Given the description of an element on the screen output the (x, y) to click on. 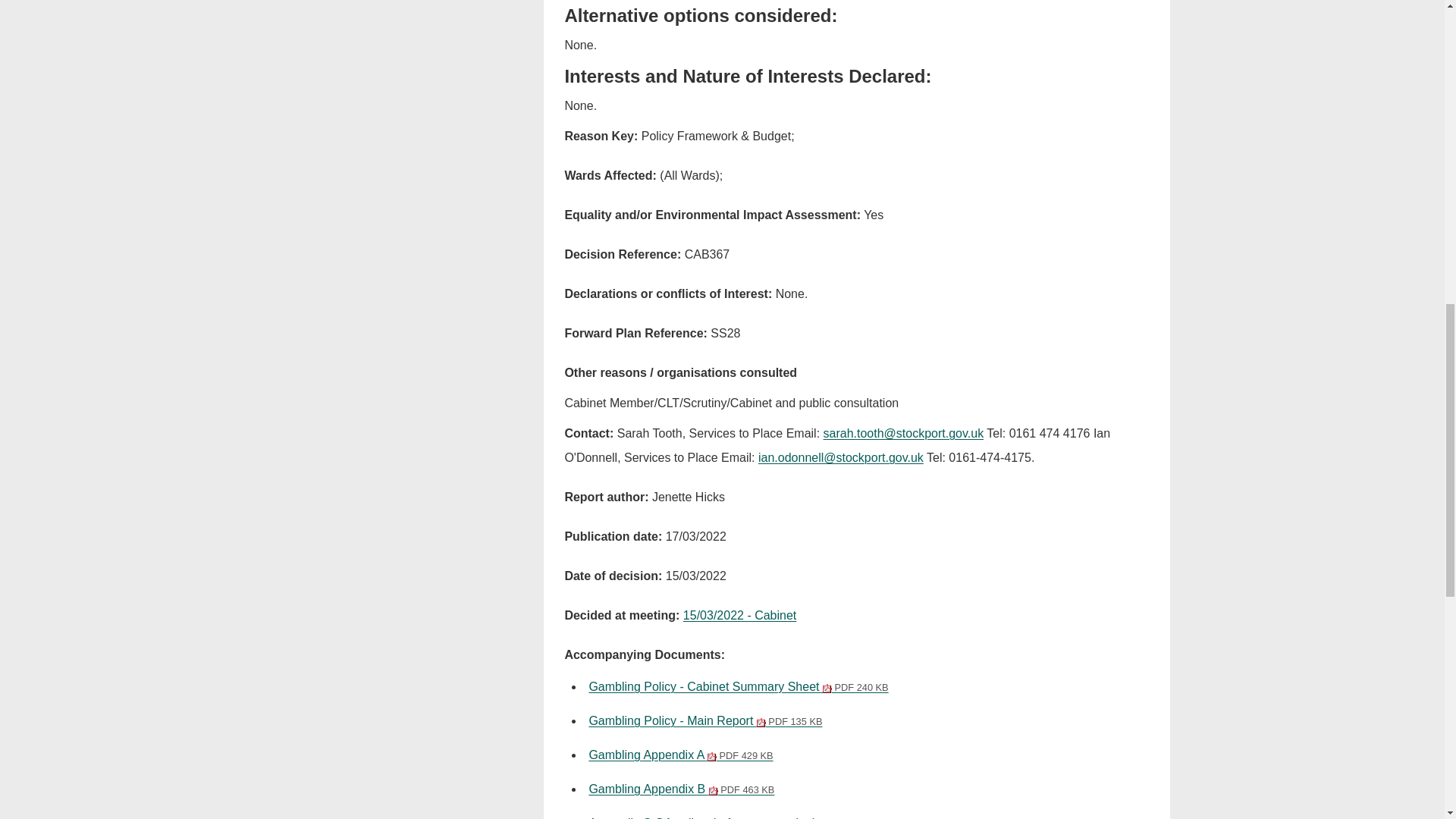
Link to file Gambling Appendix A (680, 754)
Gambling Appendix B PDF 463 KB (681, 788)
Gambling Policy - Main Report PDF 135 KB (705, 720)
Gambling Policy - Cabinet Summary Sheet PDF 240 KB (738, 686)
Gambling Appendix A PDF 429 KB (680, 754)
Link to file Gambling Appendix B (681, 788)
Link to file Gambling Policy - Cabinet Summary Sheet (738, 686)
Link to file Gambling Policy - Main Report (705, 720)
